Given the description of an element on the screen output the (x, y) to click on. 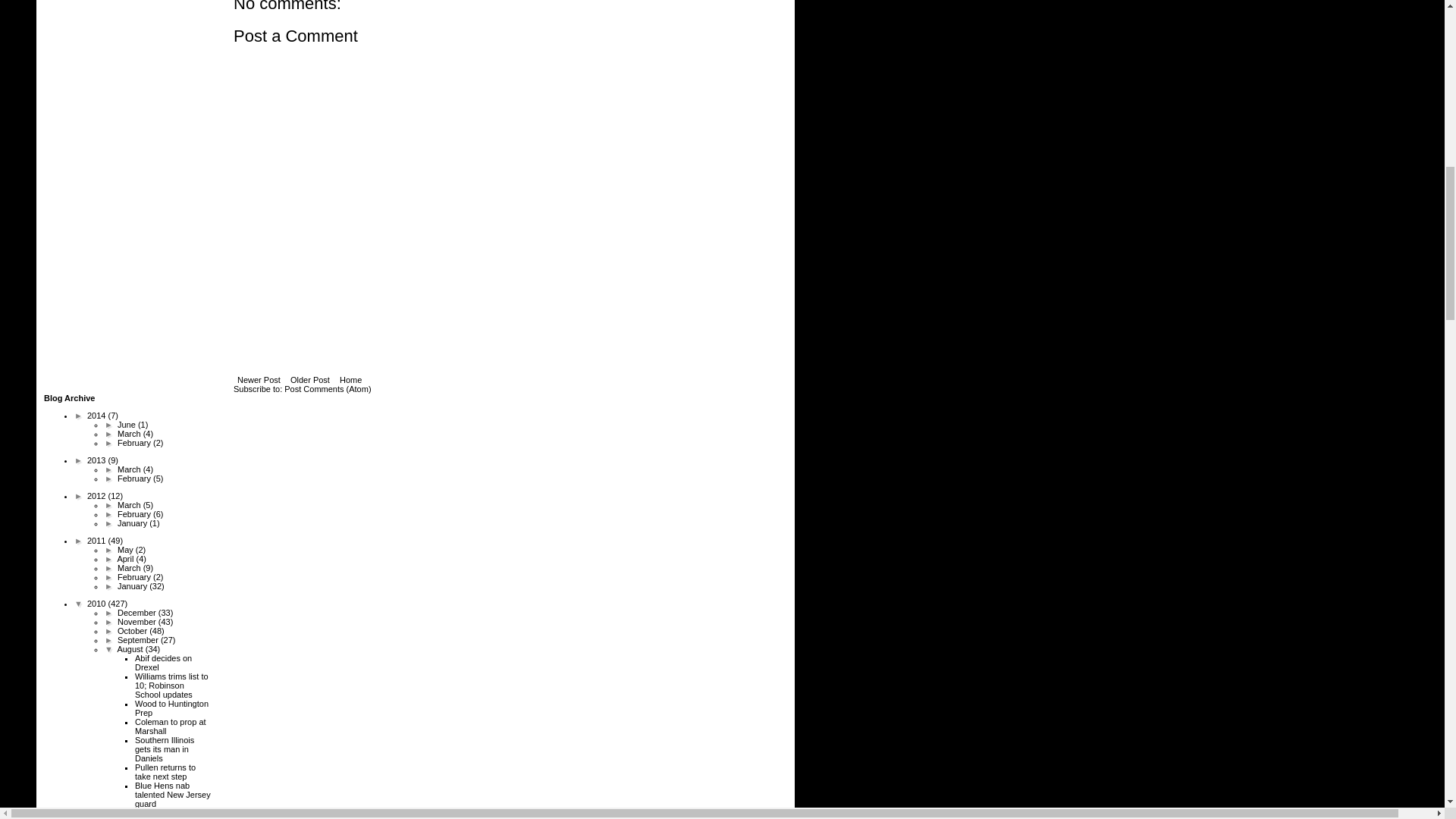
2013 (97, 460)
March (129, 433)
February (134, 478)
March (129, 469)
Older Post (309, 379)
March (129, 504)
June (127, 424)
Newer Post (257, 379)
February (134, 442)
Newer Post (257, 379)
Home (350, 379)
Older Post (309, 379)
2012 (97, 495)
2014 (97, 415)
